Given the description of an element on the screen output the (x, y) to click on. 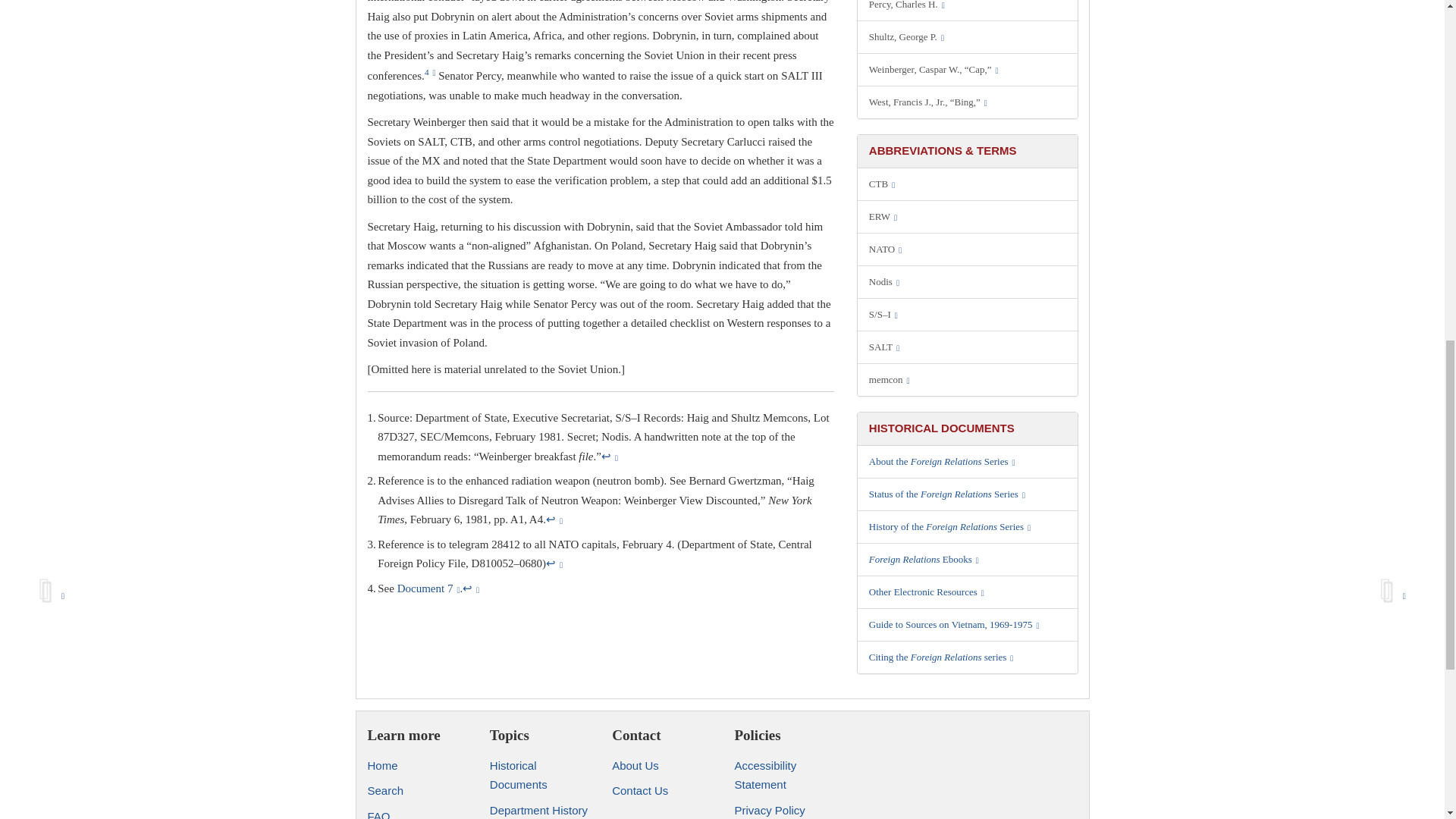
memorandum of conversation (967, 379)
Secretary of State from July 16, 1982, to January 20, 1989 (967, 37)
No Distribution (967, 281)
Secretary of Defense from January 21, 1981 (967, 69)
enhanced radiation weapon (967, 216)
North Atlantic Treaty Organization (967, 249)
Strategic Arms Limitation Talks (967, 346)
Comprehensive Test Ban (967, 184)
